Given the description of an element on the screen output the (x, y) to click on. 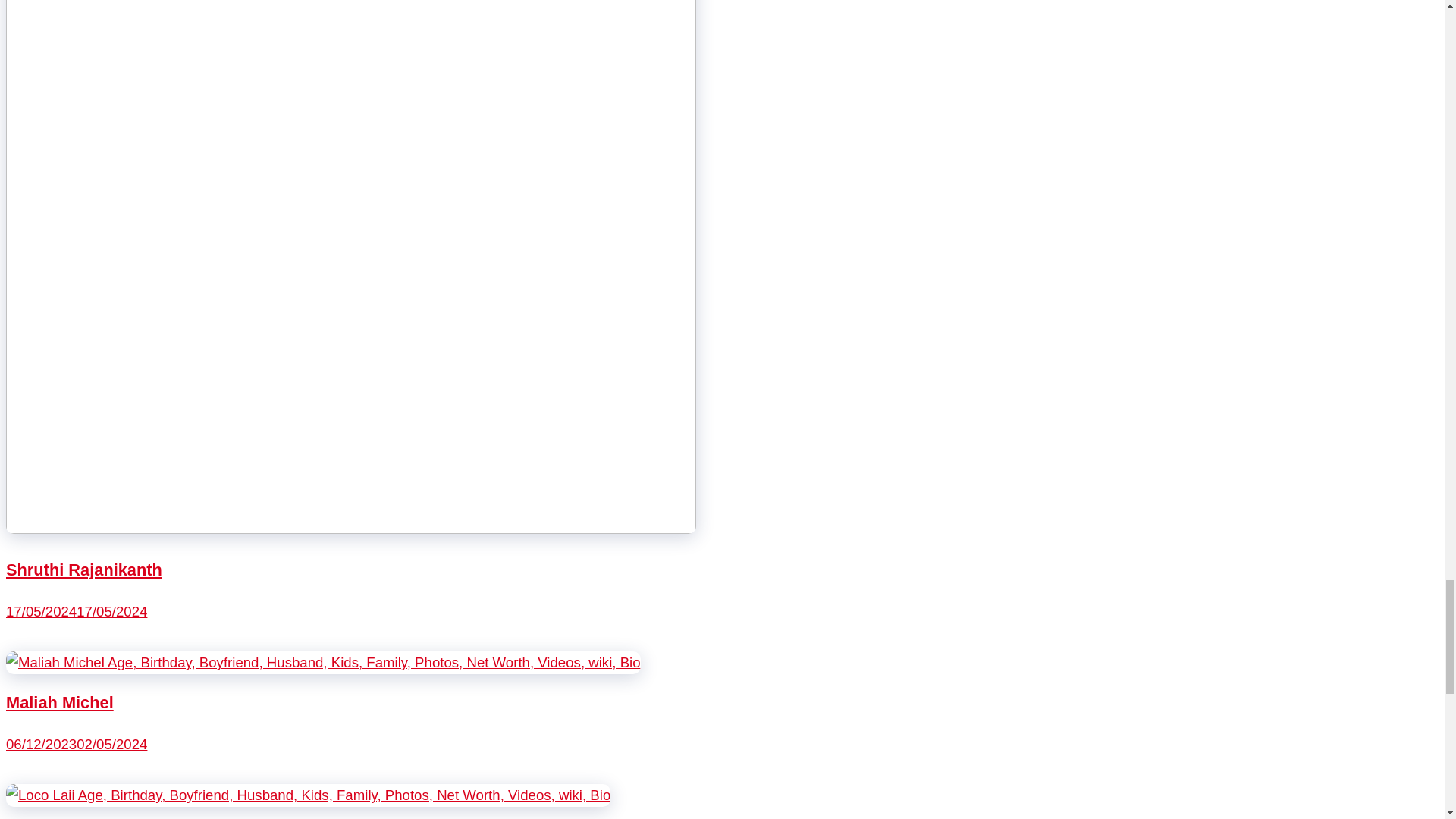
4:34 am (76, 744)
Shruthi Rajanikanth (83, 569)
Loco Laii (307, 795)
Maliah Michel (322, 662)
4:57 am (76, 611)
Maliah Michel (59, 701)
Shruthi Rajanikanth (350, 528)
